Given the description of an element on the screen output the (x, y) to click on. 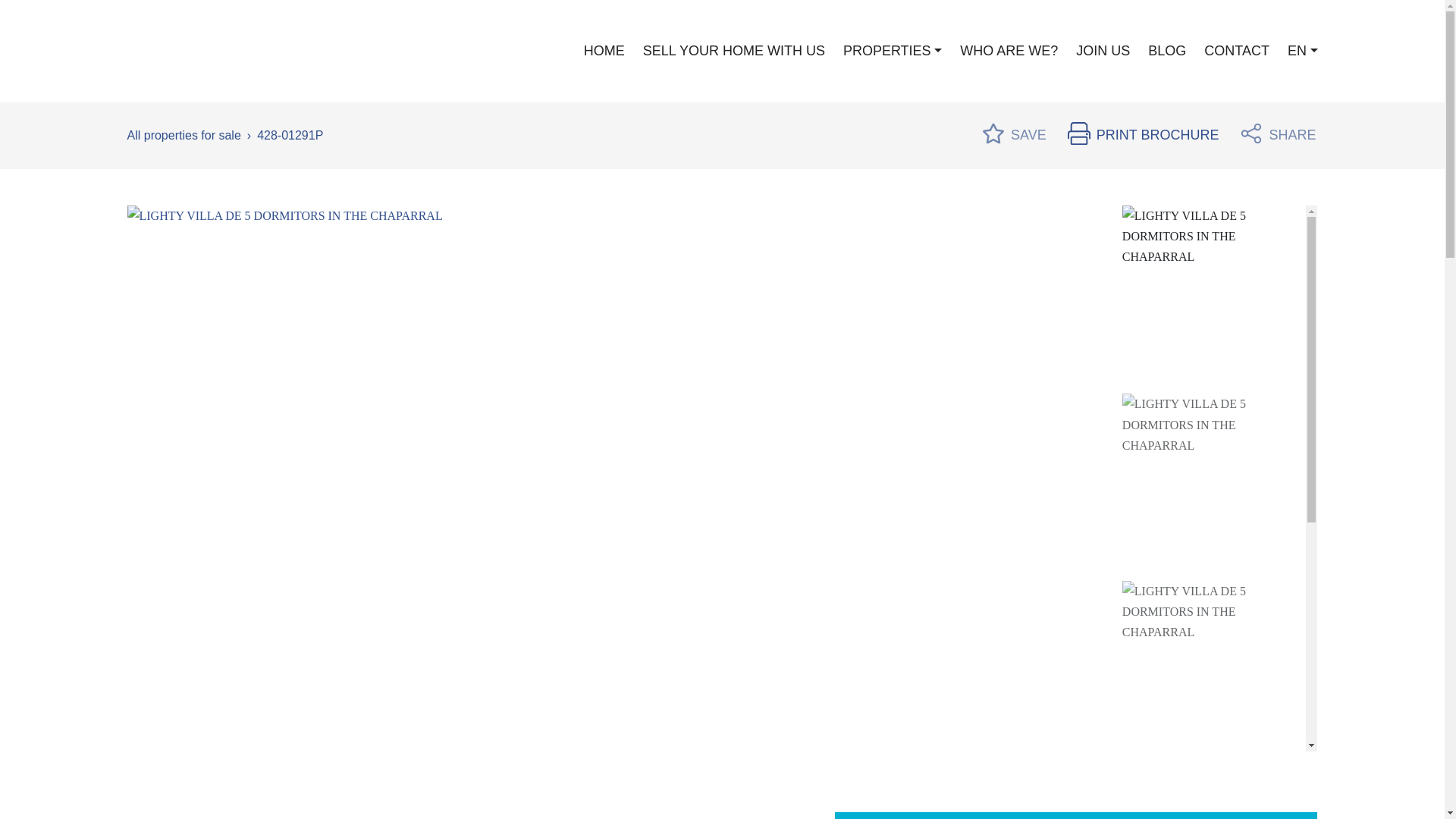
428-01291P (290, 134)
SHARE (1278, 135)
Selection Med (188, 50)
Properties for sale in Spain, France and Portugal (184, 134)
Print Brochure (1143, 135)
SAVE (1013, 135)
HOME (603, 50)
PRINT BROCHURE (1143, 135)
JOIN US (1102, 50)
